Given the description of an element on the screen output the (x, y) to click on. 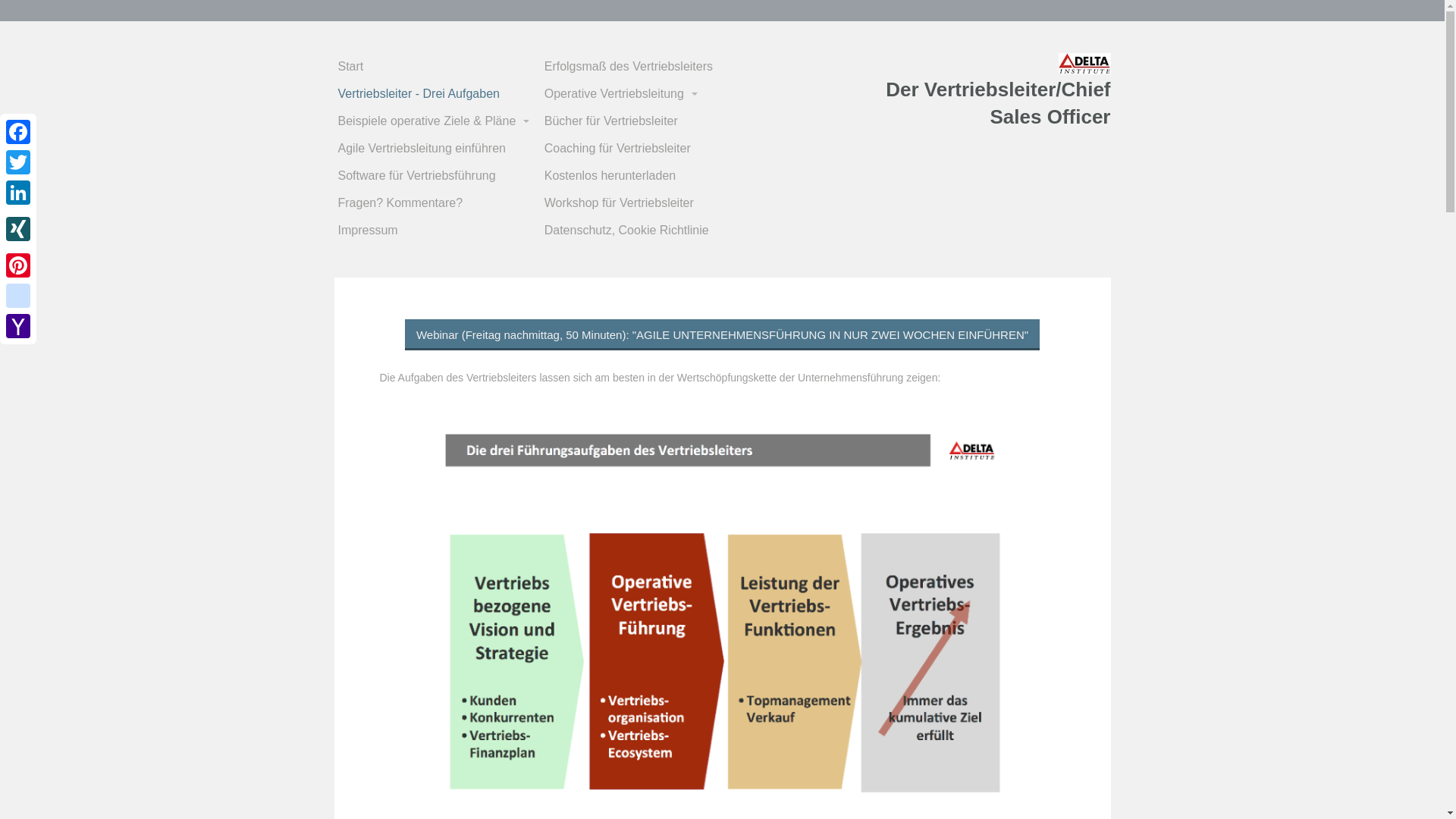
Twitter Element type: text (18, 162)
Pinterest Element type: text (18, 265)
LinkedIn Element type: text (18, 192)
Datenschutz, Cookie Richtlinie Element type: text (645, 230)
Start Element type: text (439, 66)
Yahoo Mail Element type: text (18, 325)
Der Vertriebsleiter/Chief Sales Officer Element type: text (997, 103)
XING Element type: text (18, 228)
Vertriebsleiter - Drei Aufgaben Element type: text (439, 93)
Facebook Element type: text (18, 131)
Impressum Element type: text (439, 230)
baidu Element type: text (18, 295)
Kostenlos herunterladen Element type: text (645, 175)
Fragen? Kommentare? Element type: text (439, 202)
